Given the description of an element on the screen output the (x, y) to click on. 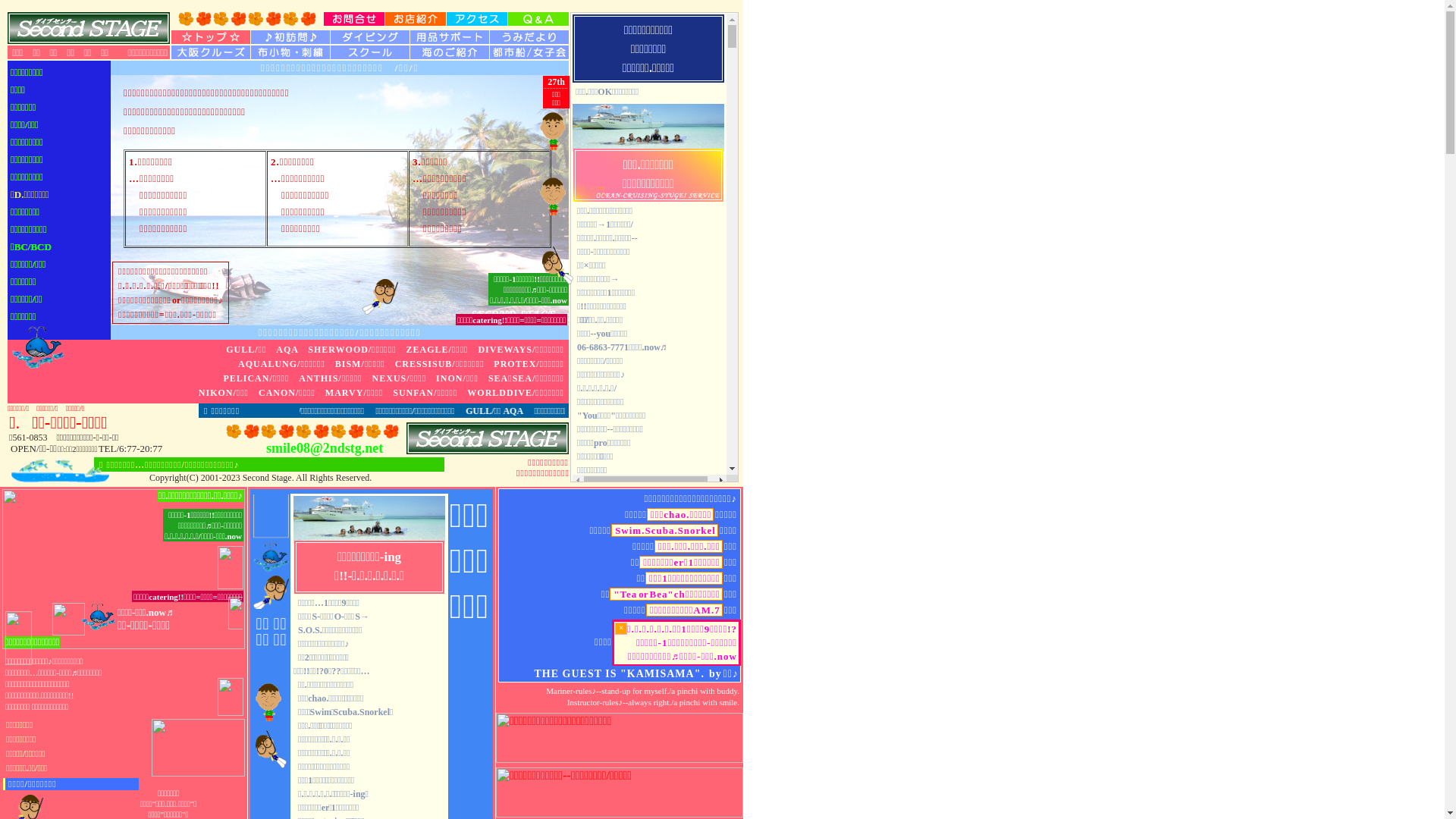
smile08@2ndstg.net Element type: text (324, 447)
